Given the description of an element on the screen output the (x, y) to click on. 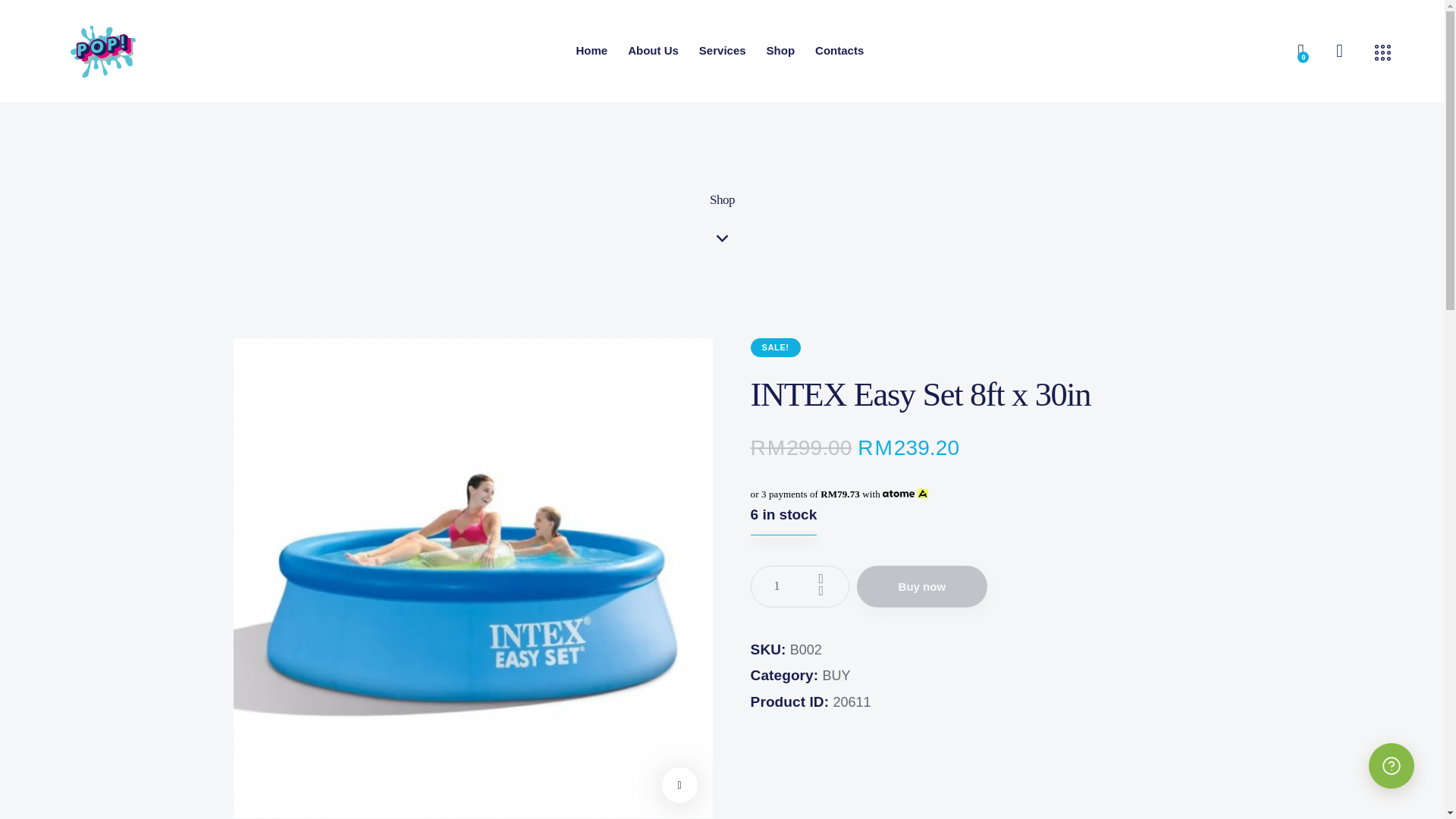
1 (799, 586)
Contacts (840, 51)
Shop (780, 51)
About Us (652, 51)
Home (591, 51)
Services (721, 51)
